Given the description of an element on the screen output the (x, y) to click on. 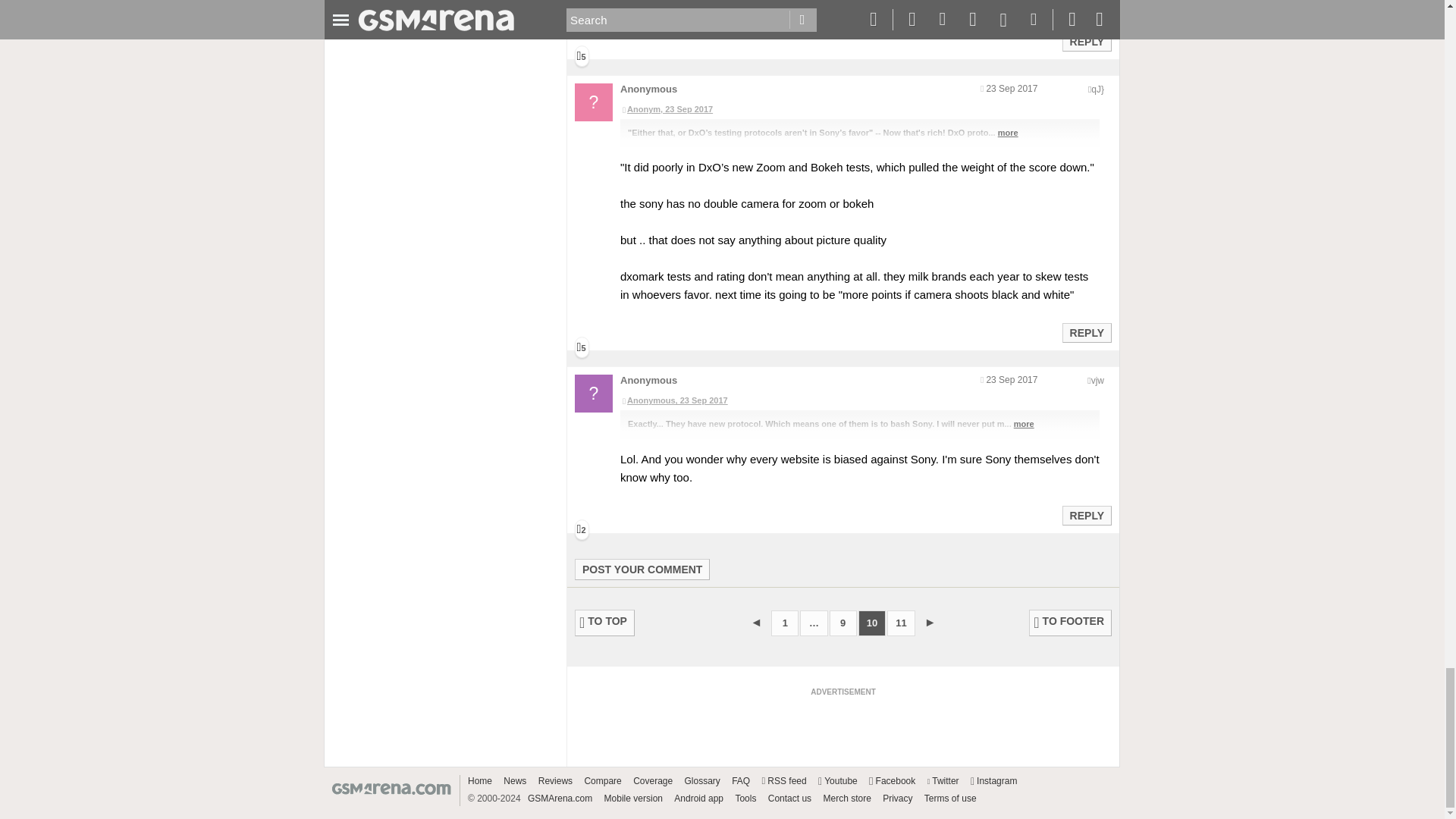
TO TOP (604, 622)
